Given the description of an element on the screen output the (x, y) to click on. 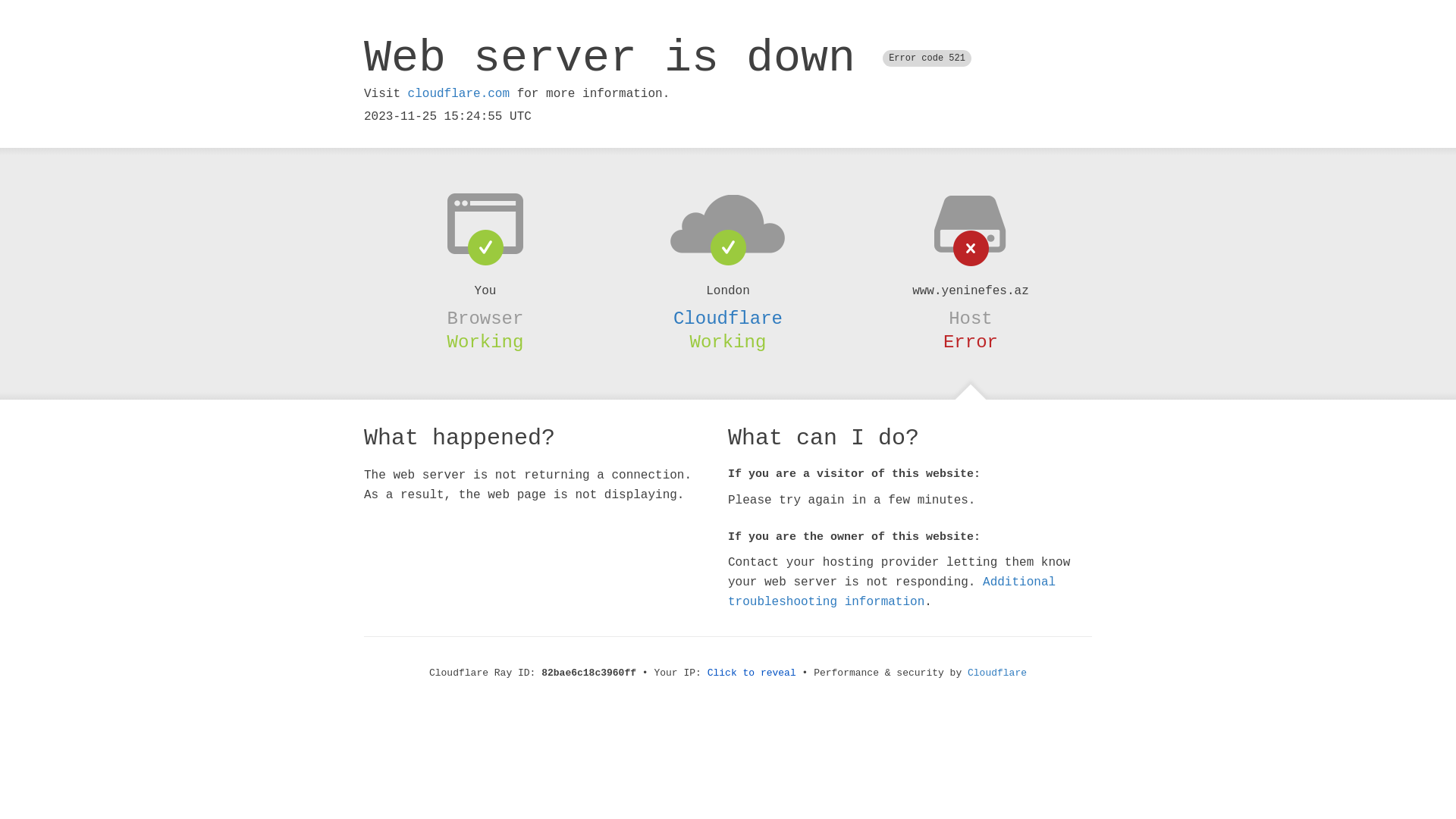
cloudflare.com Element type: text (458, 93)
Cloudflare Element type: text (996, 672)
Click to reveal Element type: text (751, 672)
Cloudflare Element type: text (727, 318)
Additional troubleshooting information Element type: text (891, 591)
